Given the description of an element on the screen output the (x, y) to click on. 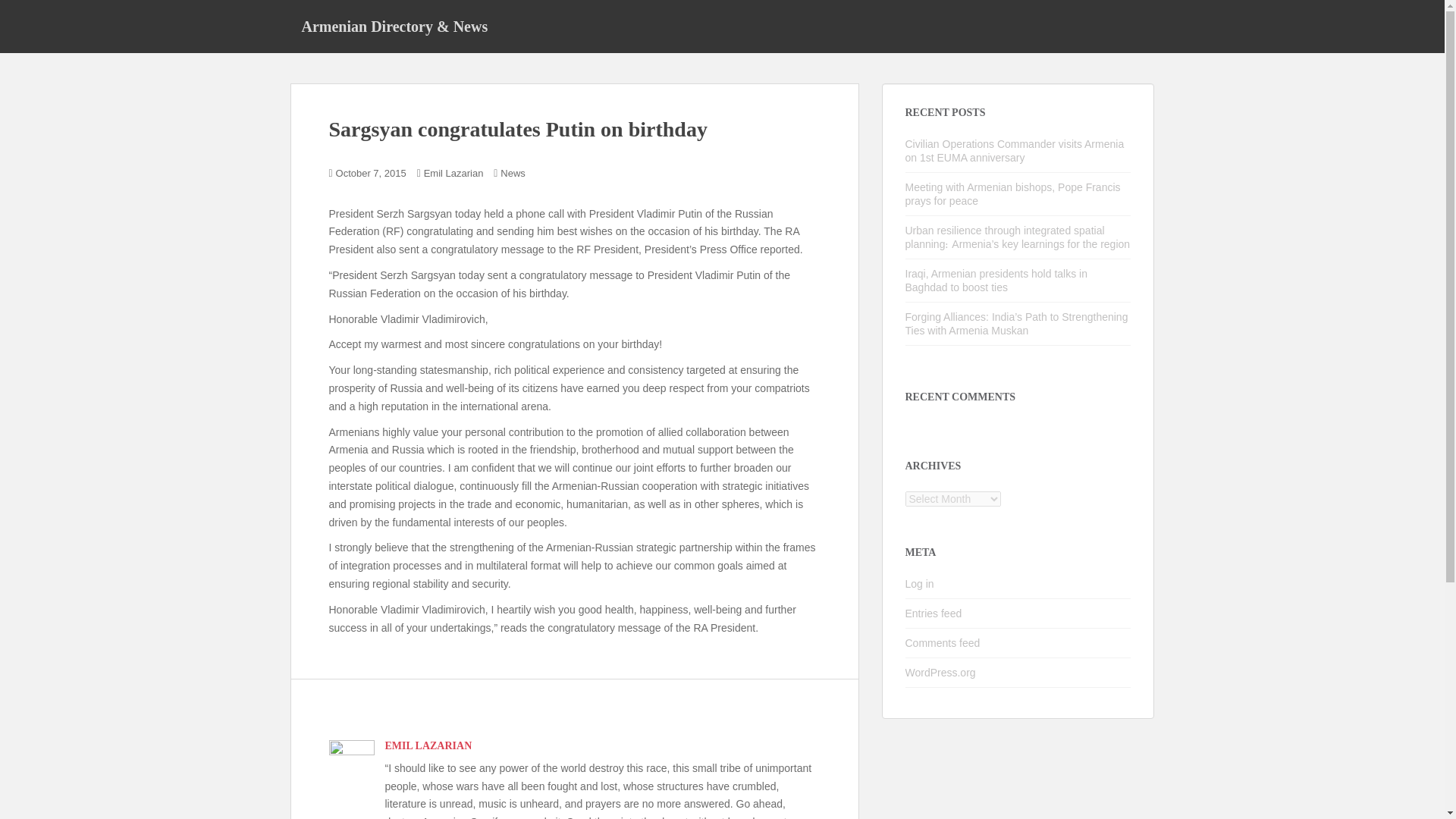
October 7, 2015 (371, 173)
Meeting with Armenian bishops, Pope Francis prays for peace (1013, 193)
Comments feed (942, 643)
Log in (919, 583)
EMIL LAZARIAN (428, 745)
Emil Lazarian (453, 173)
News (512, 173)
WordPress.org (940, 672)
